Given the description of an element on the screen output the (x, y) to click on. 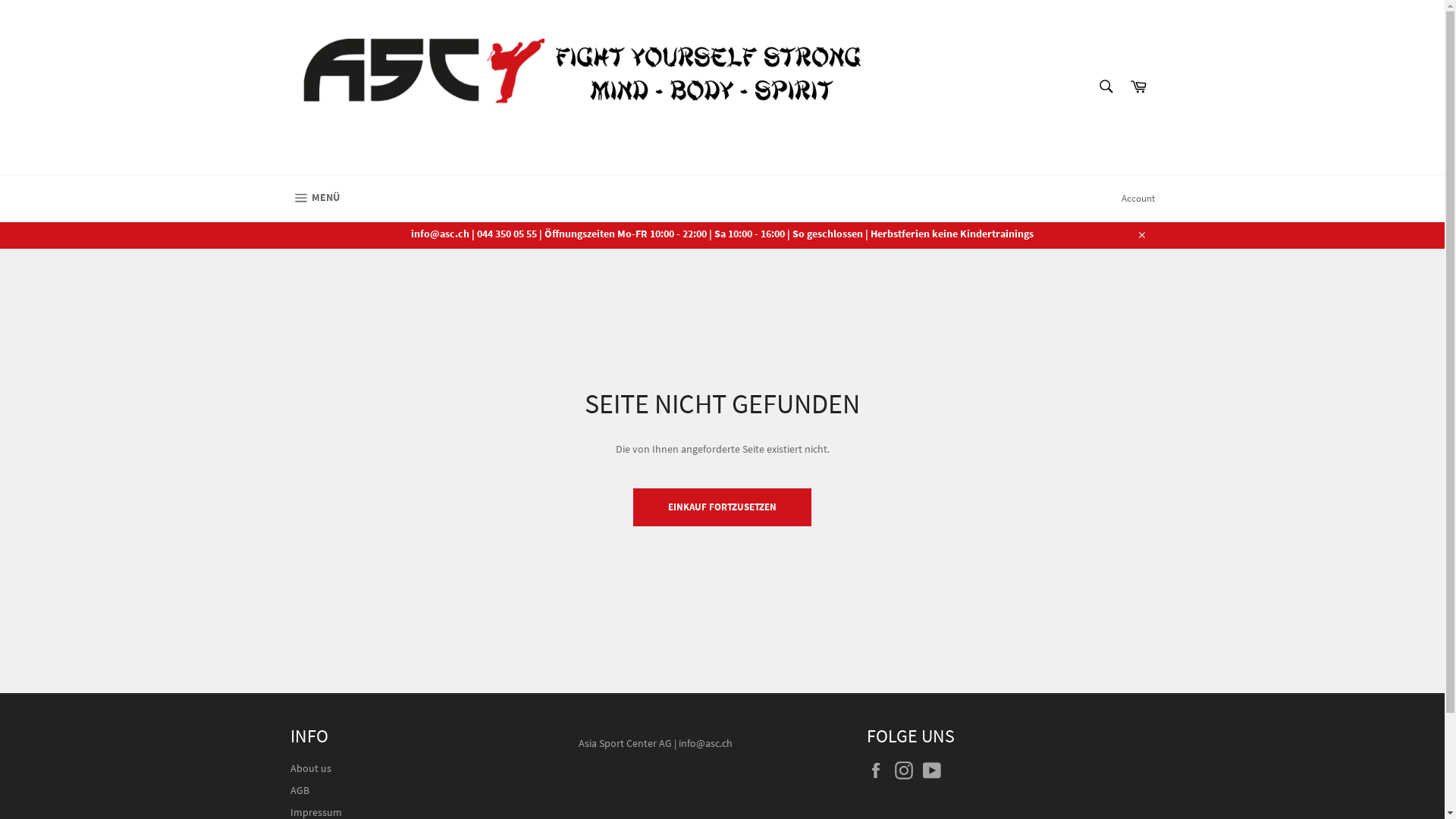
info@asc.ch Element type: text (704, 742)
Instagram Element type: text (907, 770)
EINKAUF FORTZUSETZEN Element type: text (722, 507)
Einkaufswagen Element type: text (1138, 86)
Facebook Element type: text (878, 770)
Suchen Element type: text (1105, 85)
AGB Element type: text (298, 790)
Account Element type: text (1137, 198)
About us Element type: text (309, 768)
YouTube Element type: text (934, 770)
